Given the description of an element on the screen output the (x, y) to click on. 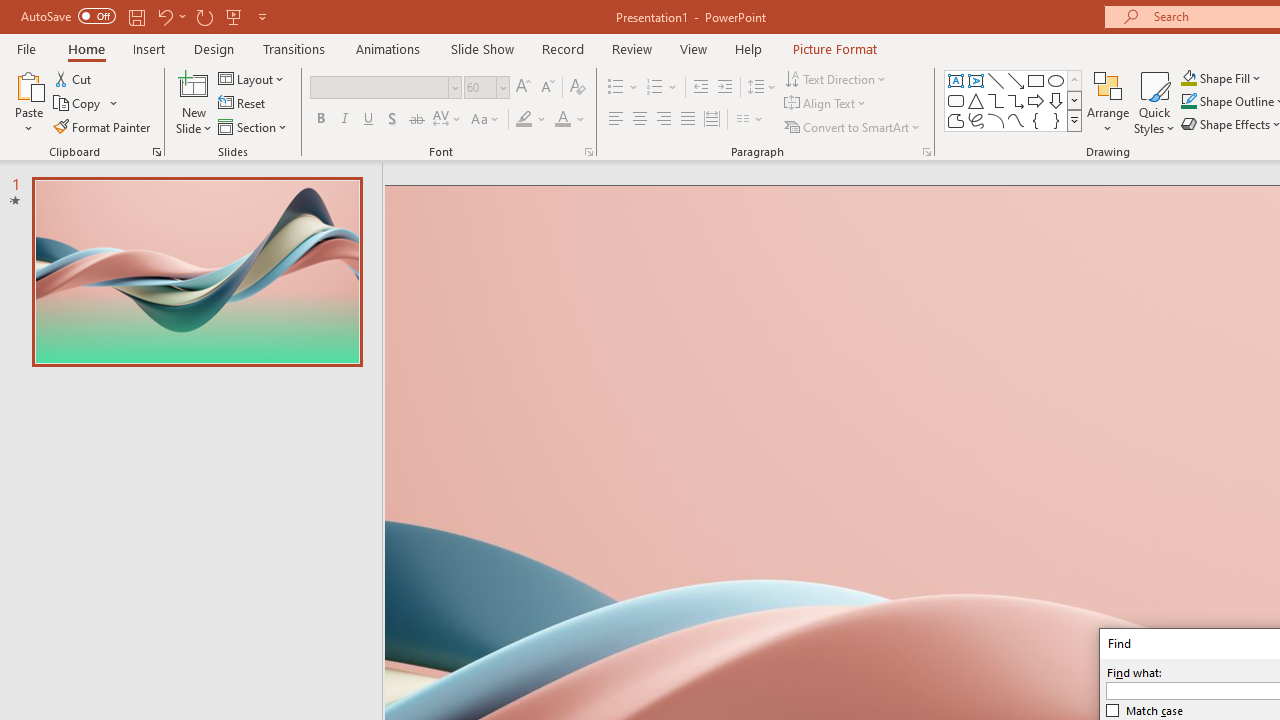
Oval (1055, 80)
Match case (1145, 710)
AutomationID: ShapesInsertGallery (1014, 100)
Arrange (1108, 102)
Format Painter (103, 126)
File Tab (26, 48)
Row Down (1074, 100)
Increase Indent (725, 87)
Section (254, 126)
Review (631, 48)
Line Spacing (762, 87)
View (693, 48)
Reset (243, 103)
Justify (687, 119)
